Given the description of an element on the screen output the (x, y) to click on. 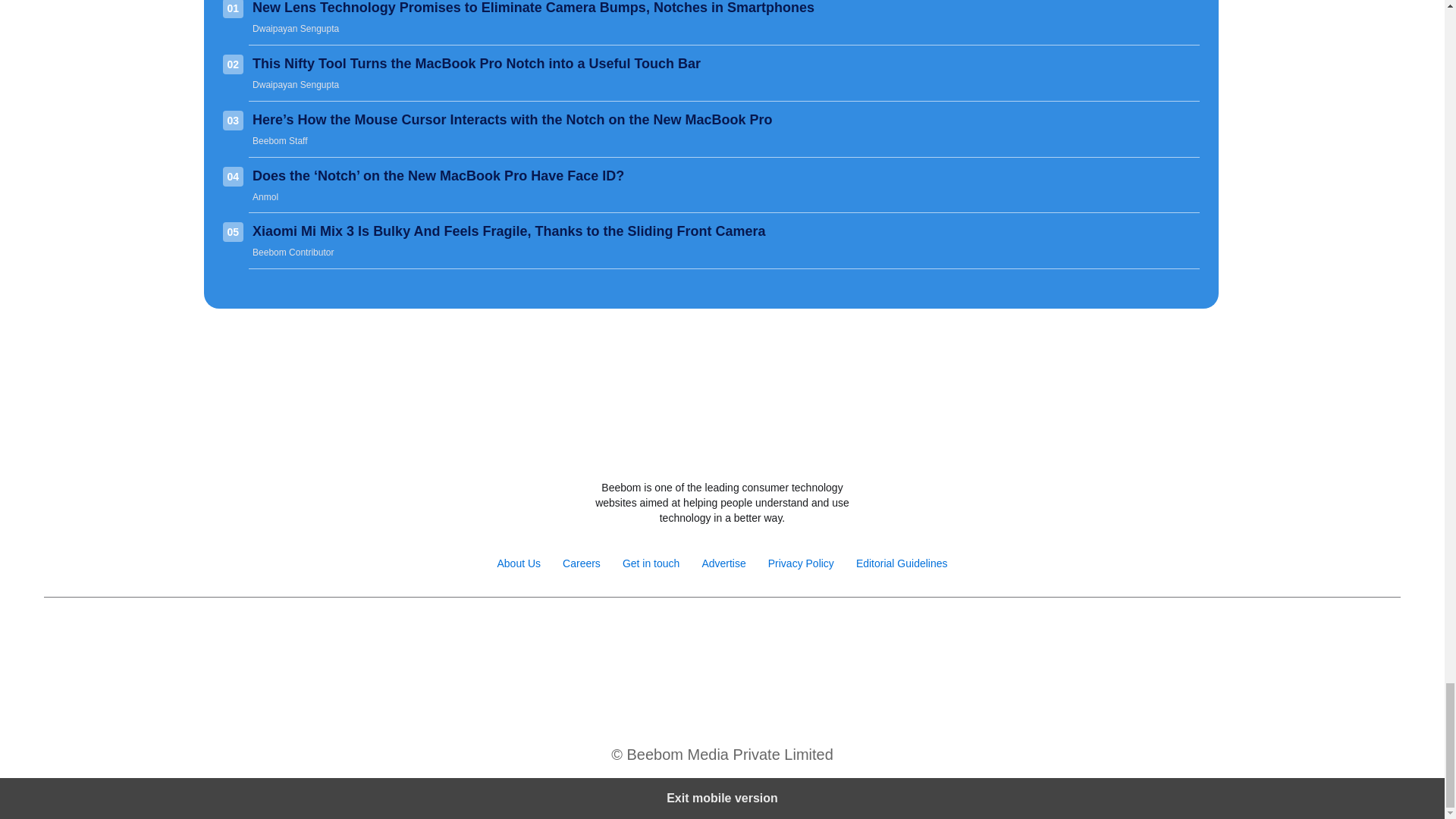
Instagram (672, 635)
Facebook (640, 635)
Beebom (721, 447)
